Given the description of an element on the screen output the (x, y) to click on. 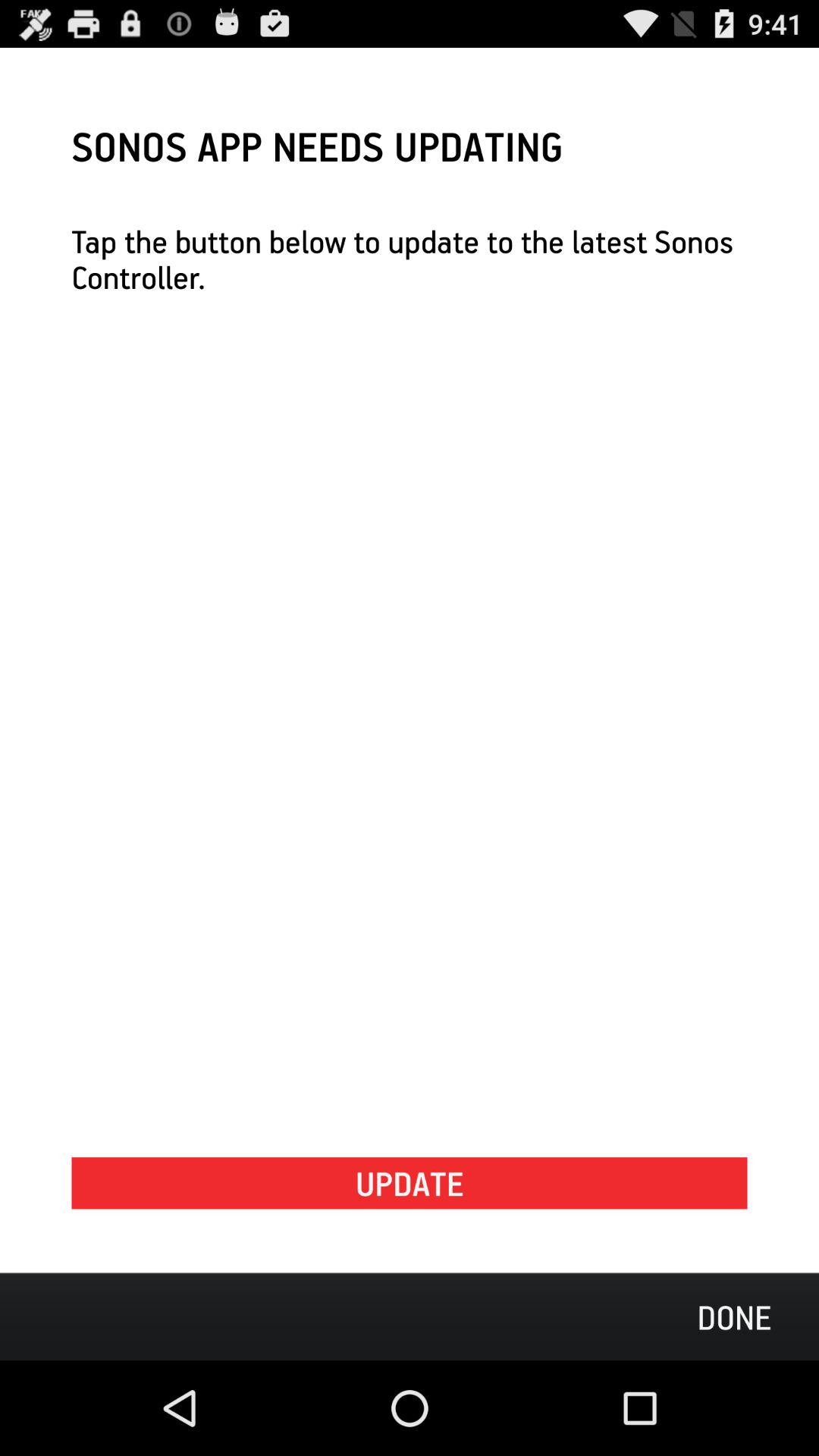
press done at the bottom right corner (734, 1316)
